Given the description of an element on the screen output the (x, y) to click on. 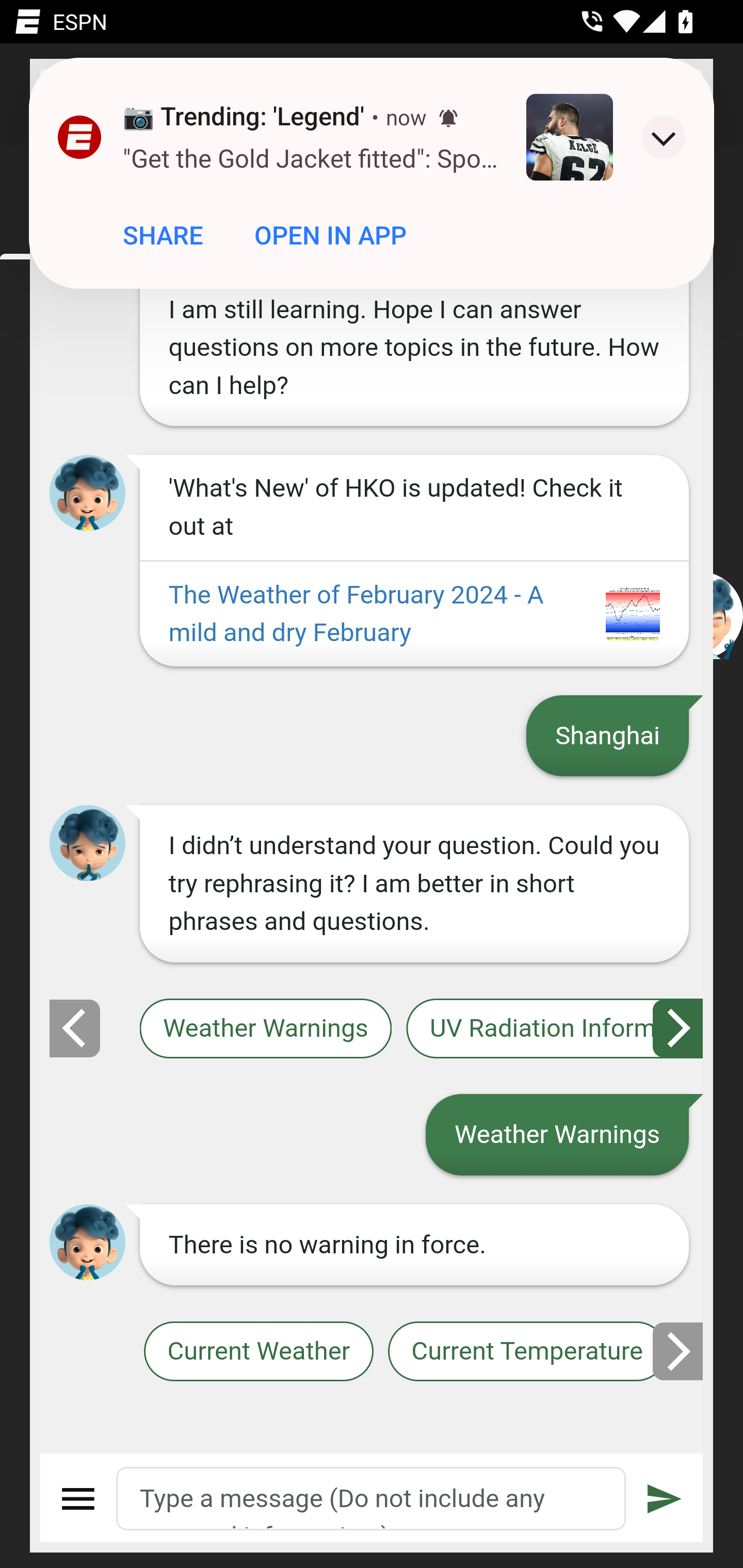
Weather Warnings (264, 1028)
UV Radiation Information (554, 1028)
Previous slide (74, 1028)
Next slide (678, 1028)
Current Weather (257, 1351)
Current Temperature (526, 1351)
Next slide (678, 1351)
Menu (78, 1498)
Submit (665, 1498)
